Given the description of an element on the screen output the (x, y) to click on. 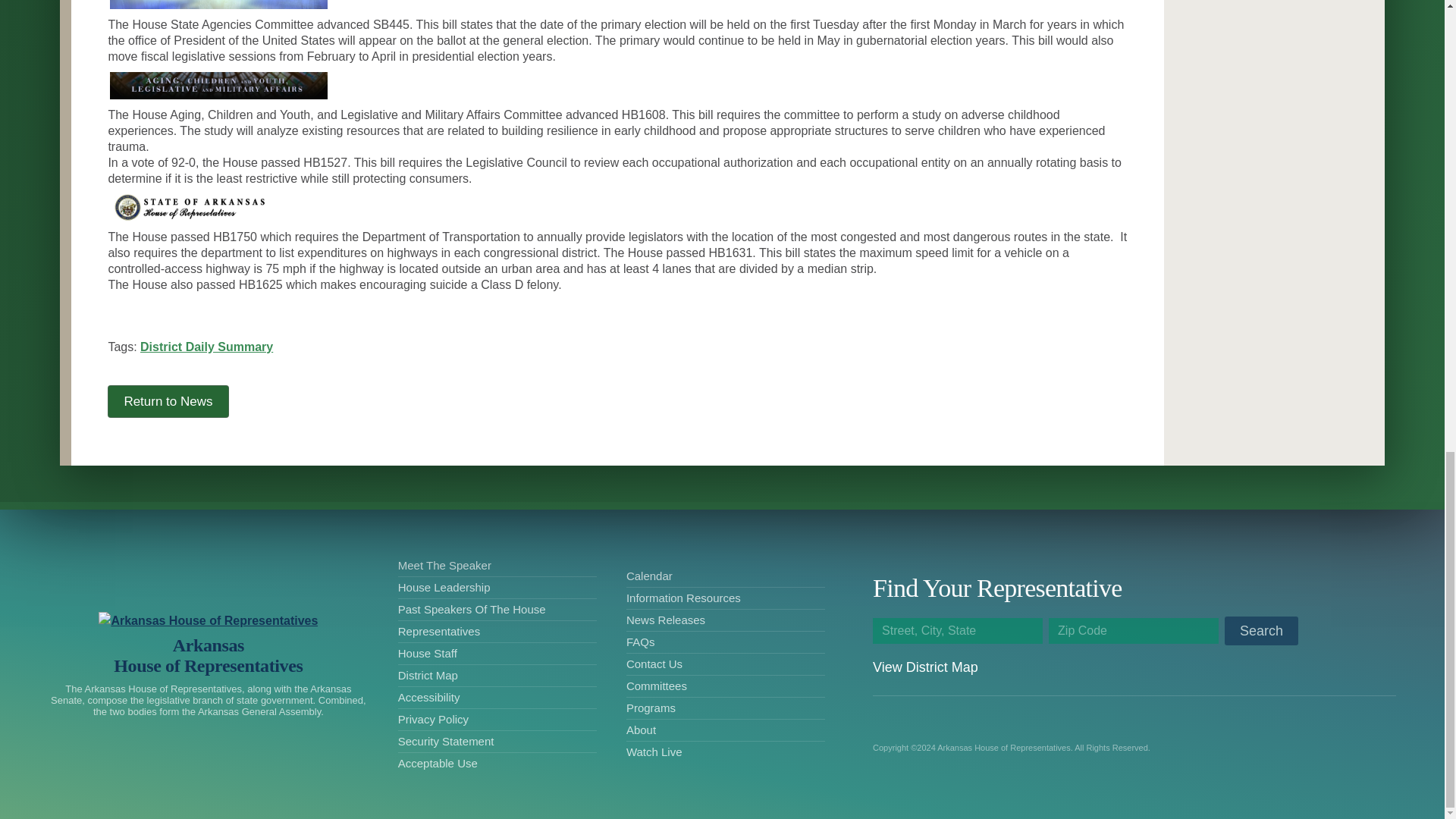
Return to News (167, 400)
Back to News (207, 655)
District Daily Summary (167, 400)
View District Map (206, 346)
